Given the description of an element on the screen output the (x, y) to click on. 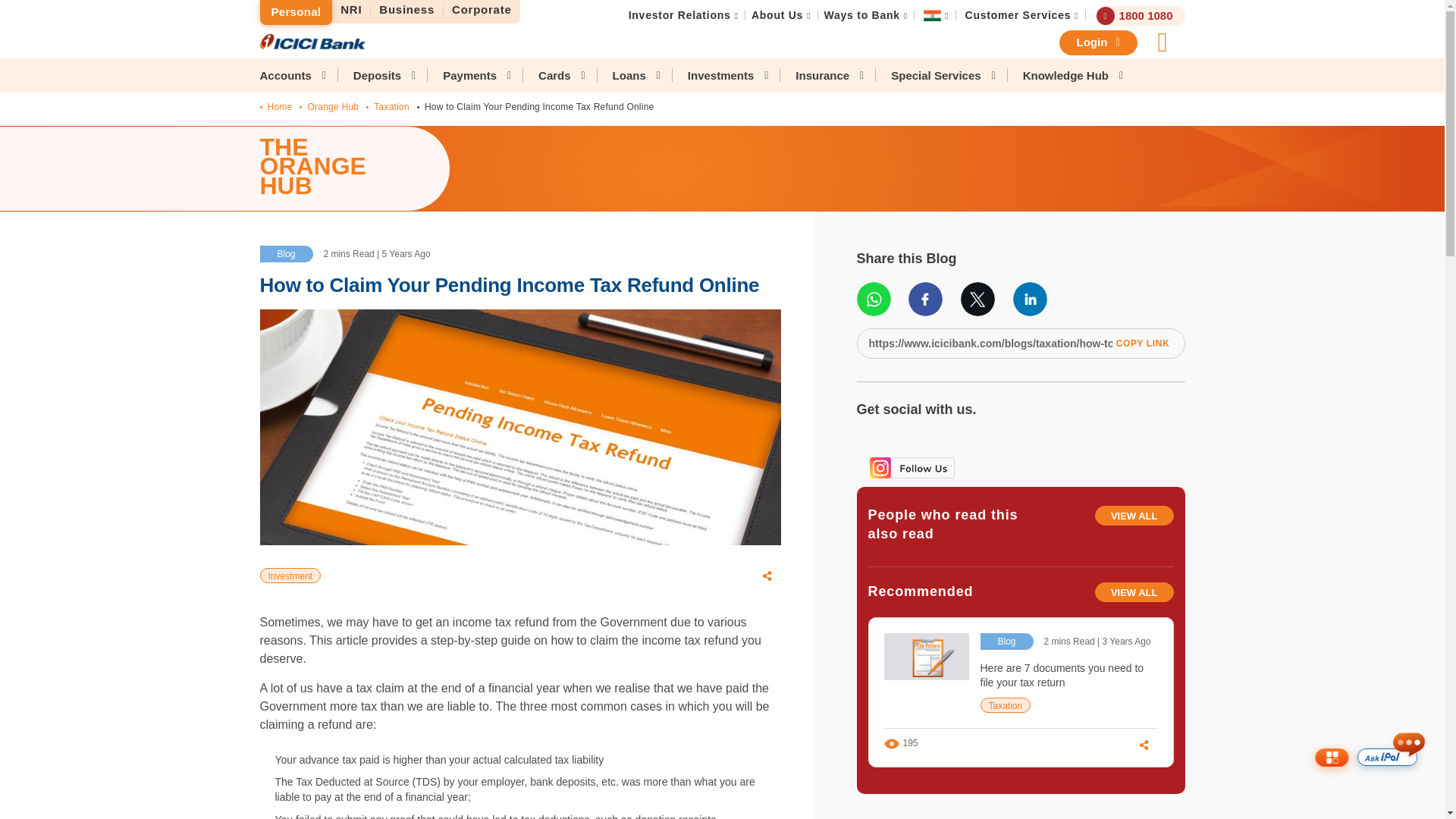
NRI (351, 9)
Corporate (481, 9)
Ways to Bank (861, 15)
Business (407, 9)
Investor Relations (679, 15)
Customer Services (1018, 15)
Personal (295, 12)
About Us (777, 15)
